Given the description of an element on the screen output the (x, y) to click on. 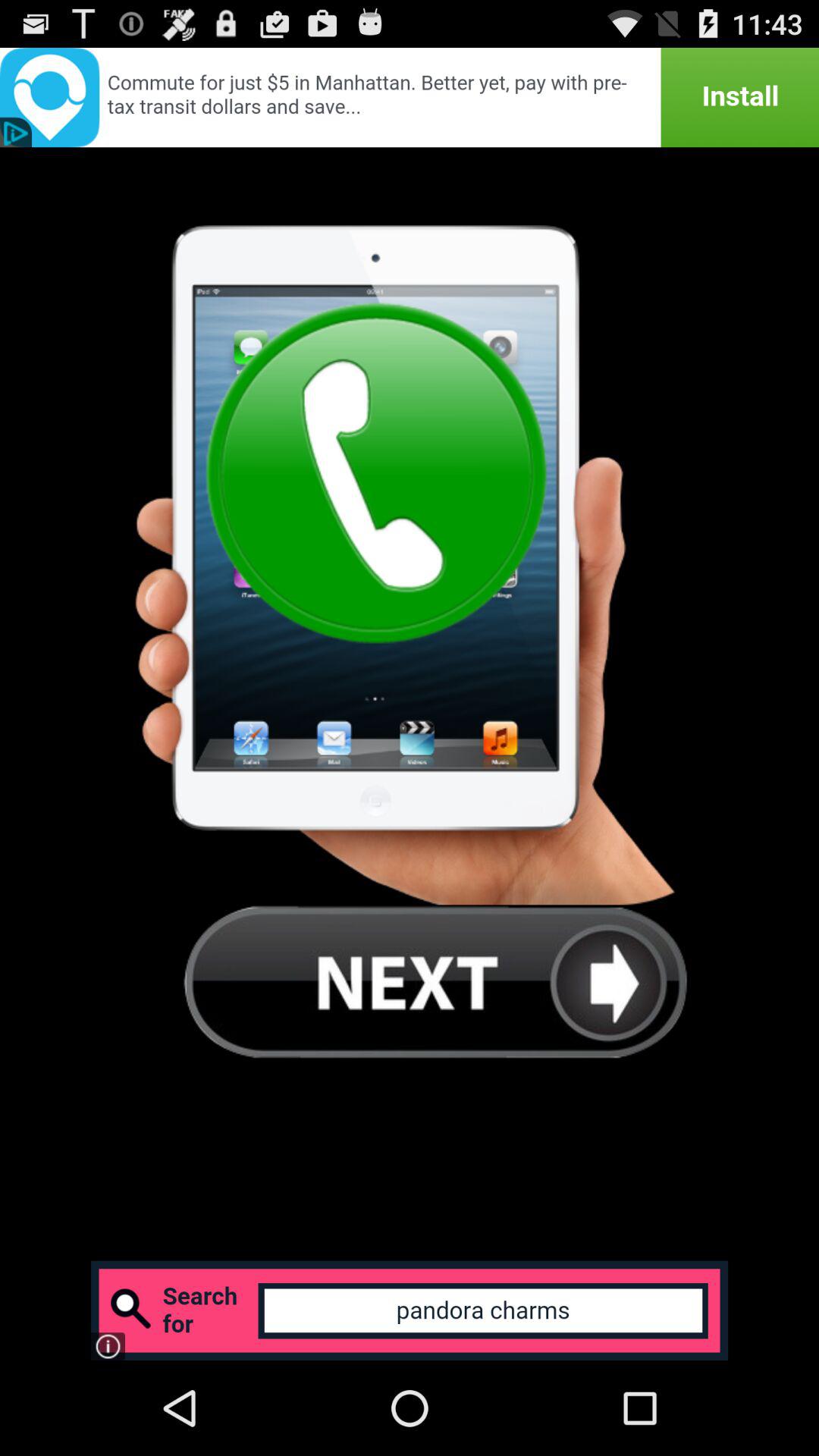
search area (409, 1310)
